Given the description of an element on the screen output the (x, y) to click on. 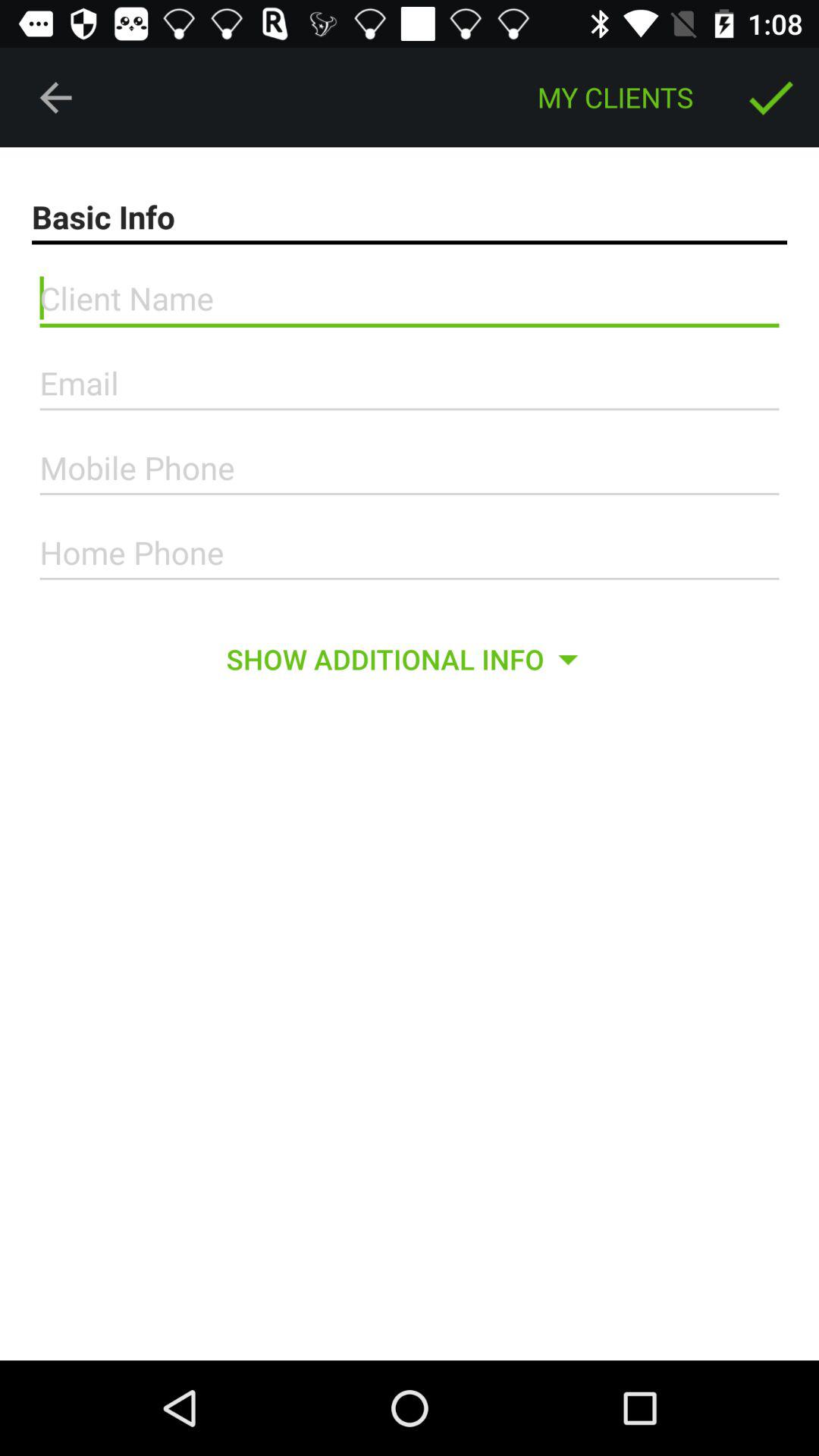
turn on show additional info item (409, 658)
